Given the description of an element on the screen output the (x, y) to click on. 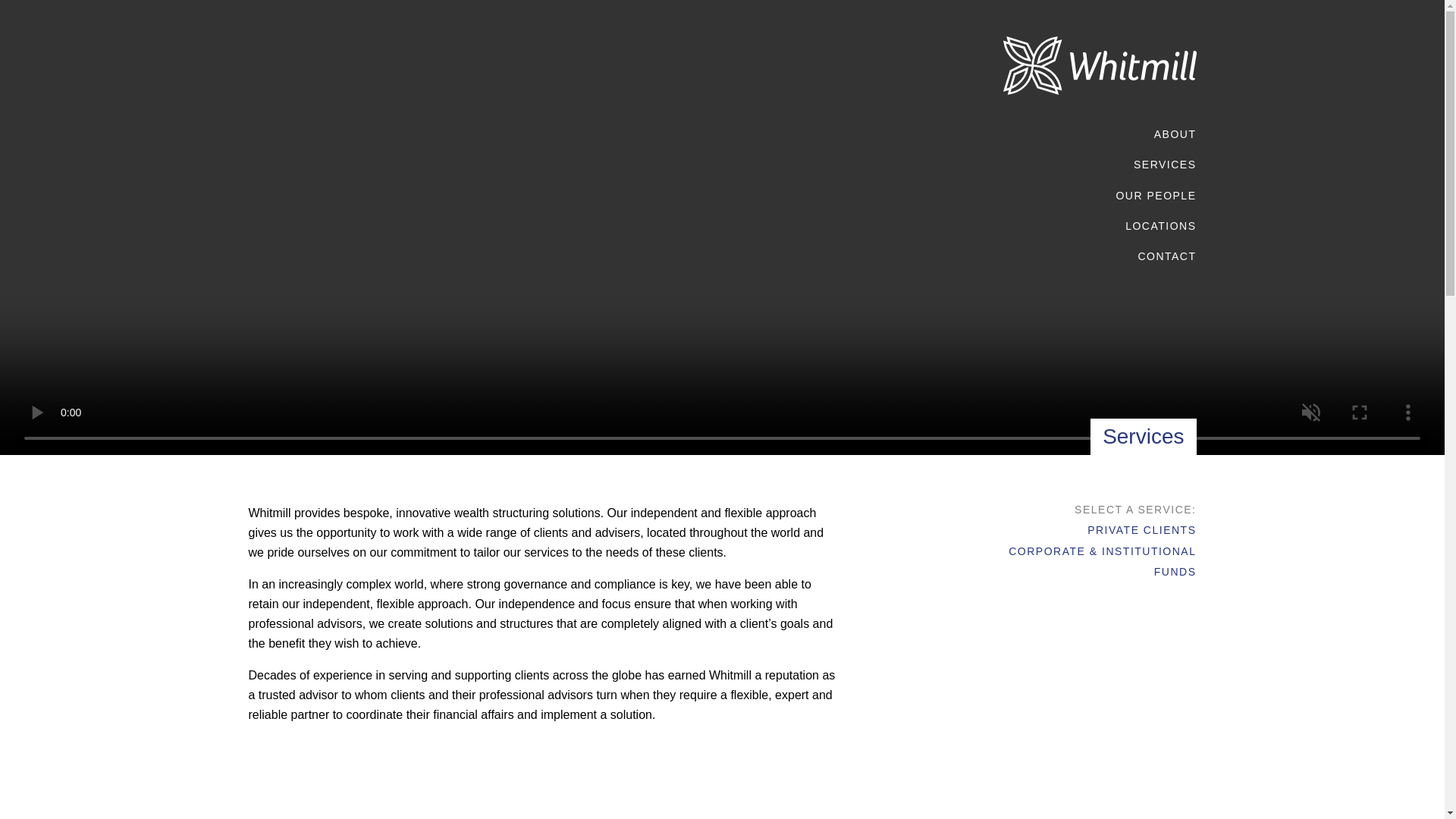
FUNDS (1175, 575)
SELECT A SERVICE: (1134, 513)
LOCATIONS (1160, 225)
CONTACT (1166, 255)
SERVICES (1165, 164)
OUR PEOPLE (1155, 195)
ABOUT (1175, 133)
PRIVATE CLIENTS (1141, 534)
